Given the description of an element on the screen output the (x, y) to click on. 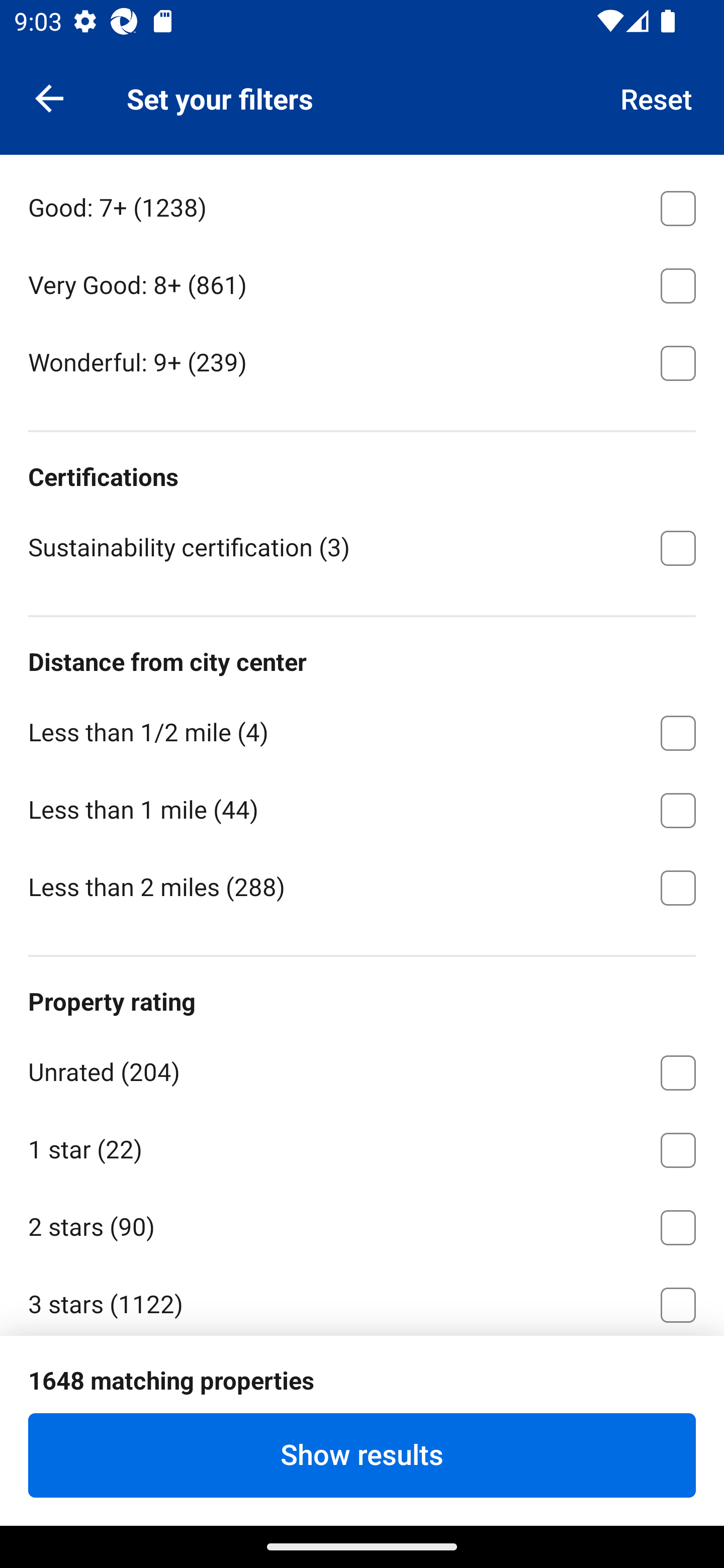
Navigate up (49, 97)
Reset (656, 97)
Good: 7+ ⁦(1238) (361, 204)
Very Good: 8+ ⁦(861) (361, 282)
Wonderful: 9+ ⁦(239) (361, 361)
Sustainability certification ⁦(3) (361, 546)
Less than 1/2 mile ⁦(4) (361, 729)
Less than 1 mile ⁦(44) (361, 806)
Less than 2 miles ⁦(288) (361, 885)
Unrated ⁦(204) (361, 1069)
1 star ⁦(22) (361, 1146)
2 stars ⁦(90) (361, 1223)
3 stars ⁦(1122) (361, 1298)
4 stars ⁦(165) (361, 1378)
Show results (361, 1454)
